Given the description of an element on the screen output the (x, y) to click on. 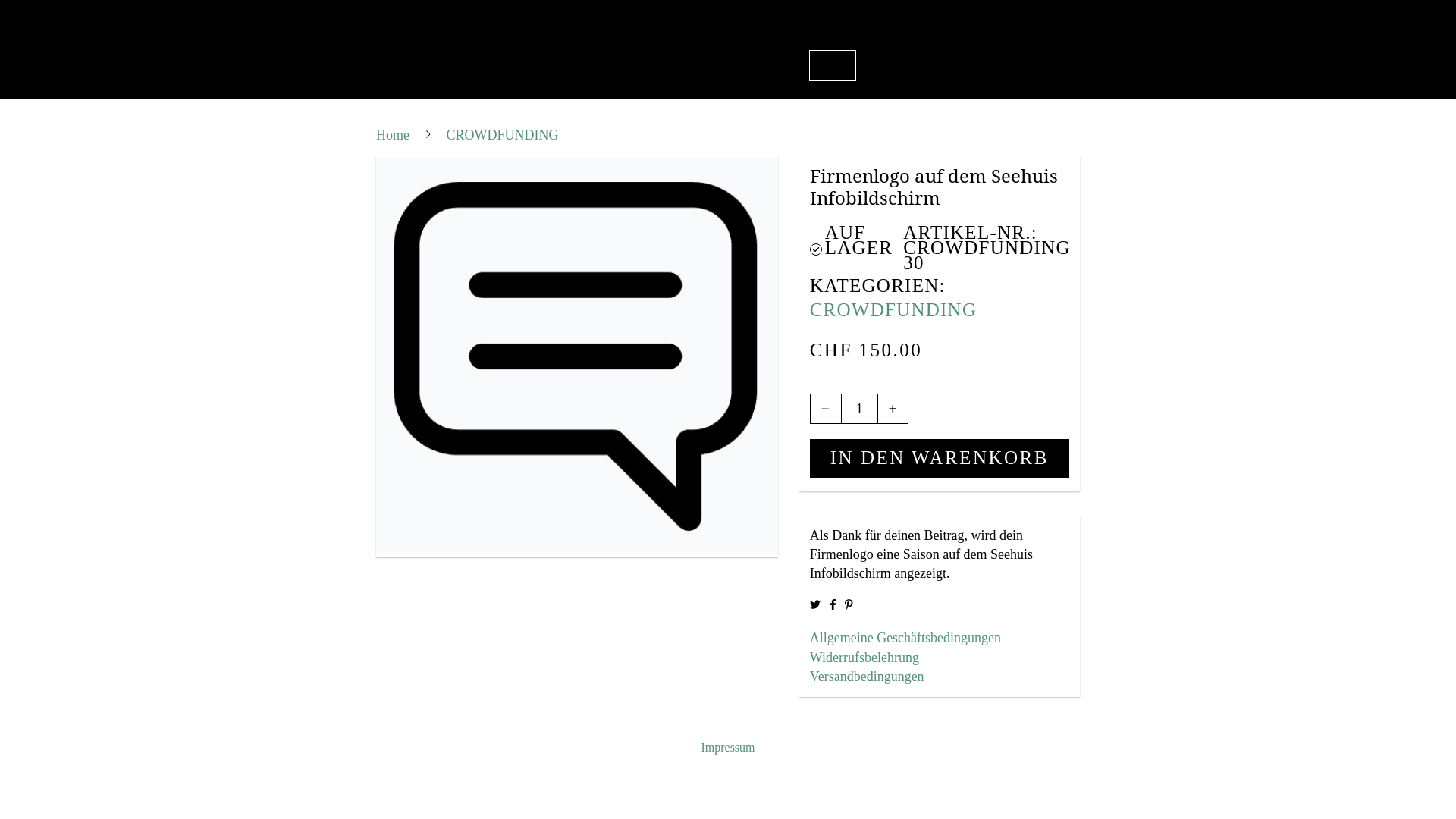
Home Element type: text (507, 65)
CROWDFUNDING Element type: text (502, 135)
Impressum Element type: text (727, 747)
IN DEN WARENKORB Element type: text (939, 458)
Preislisten Element type: text (641, 65)
Kontakt Element type: text (775, 65)
CROWDFUNDING Element type: text (893, 309)
Versandbedingungen Element type: text (939, 676)
Warenkorb Element type: text (905, 65)
Auf Lager Element type: hover (815, 247)
Shop Element type: text (832, 65)
Home Element type: text (394, 135)
Events Element type: text (713, 65)
Agenda Element type: text (566, 65)
Widerrufsbelehrung Element type: text (939, 657)
